Given the description of an element on the screen output the (x, y) to click on. 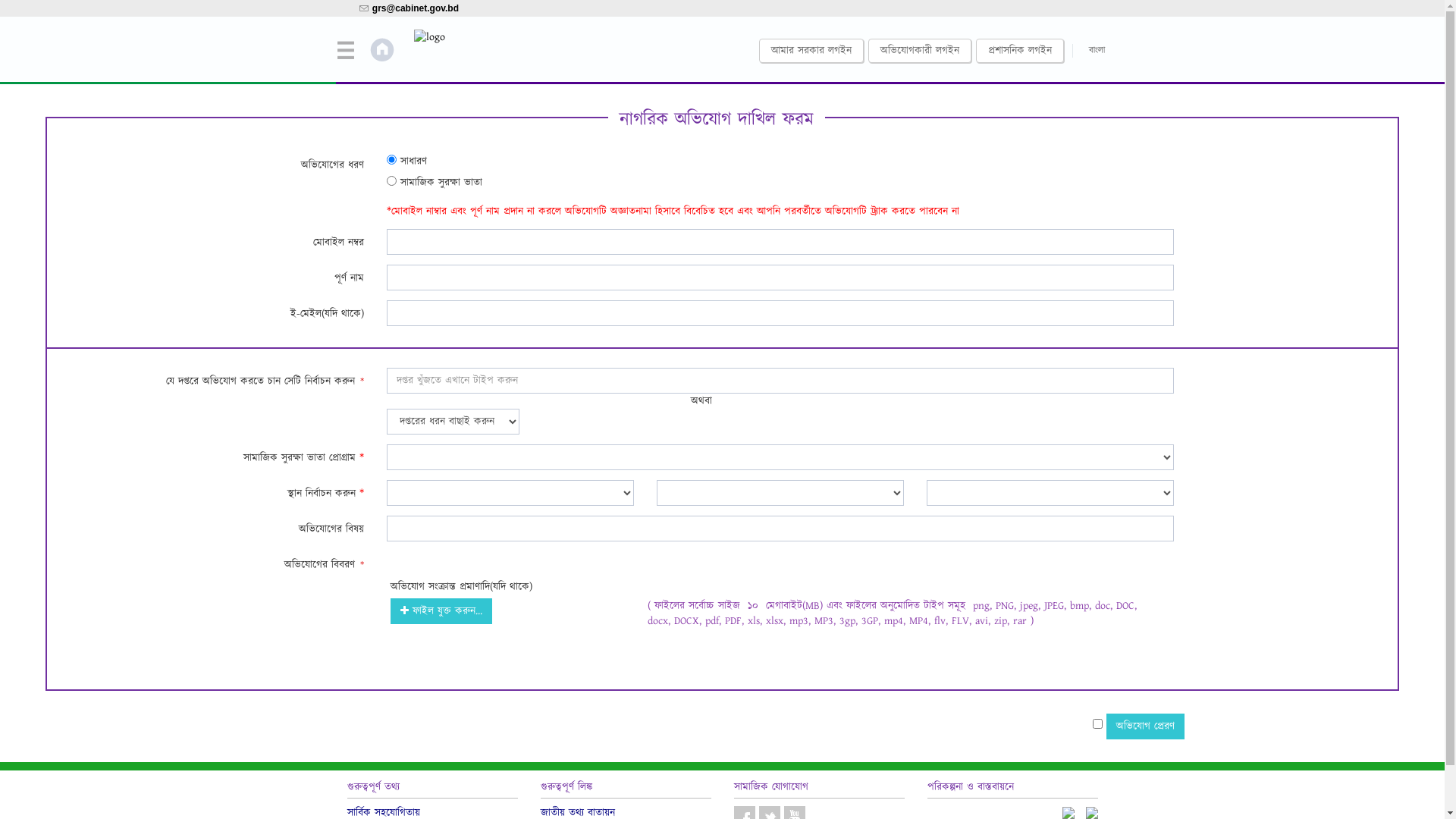
grs@cabinet.gov.bd Element type: text (415, 8)
1 Element type: text (391, 159)
2 Element type: text (391, 180)
